Given the description of an element on the screen output the (x, y) to click on. 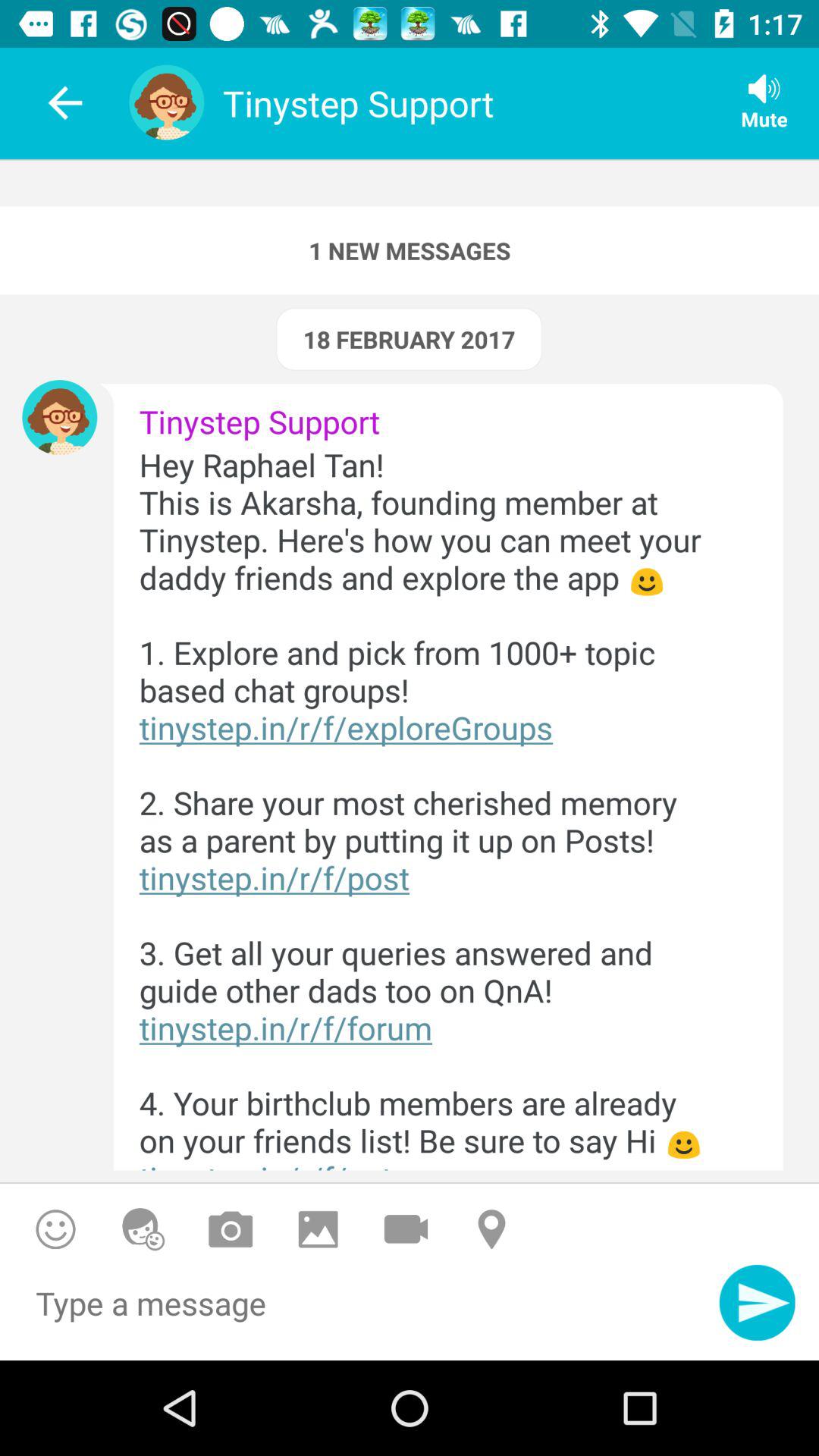
type a message area (359, 1311)
